Given the description of an element on the screen output the (x, y) to click on. 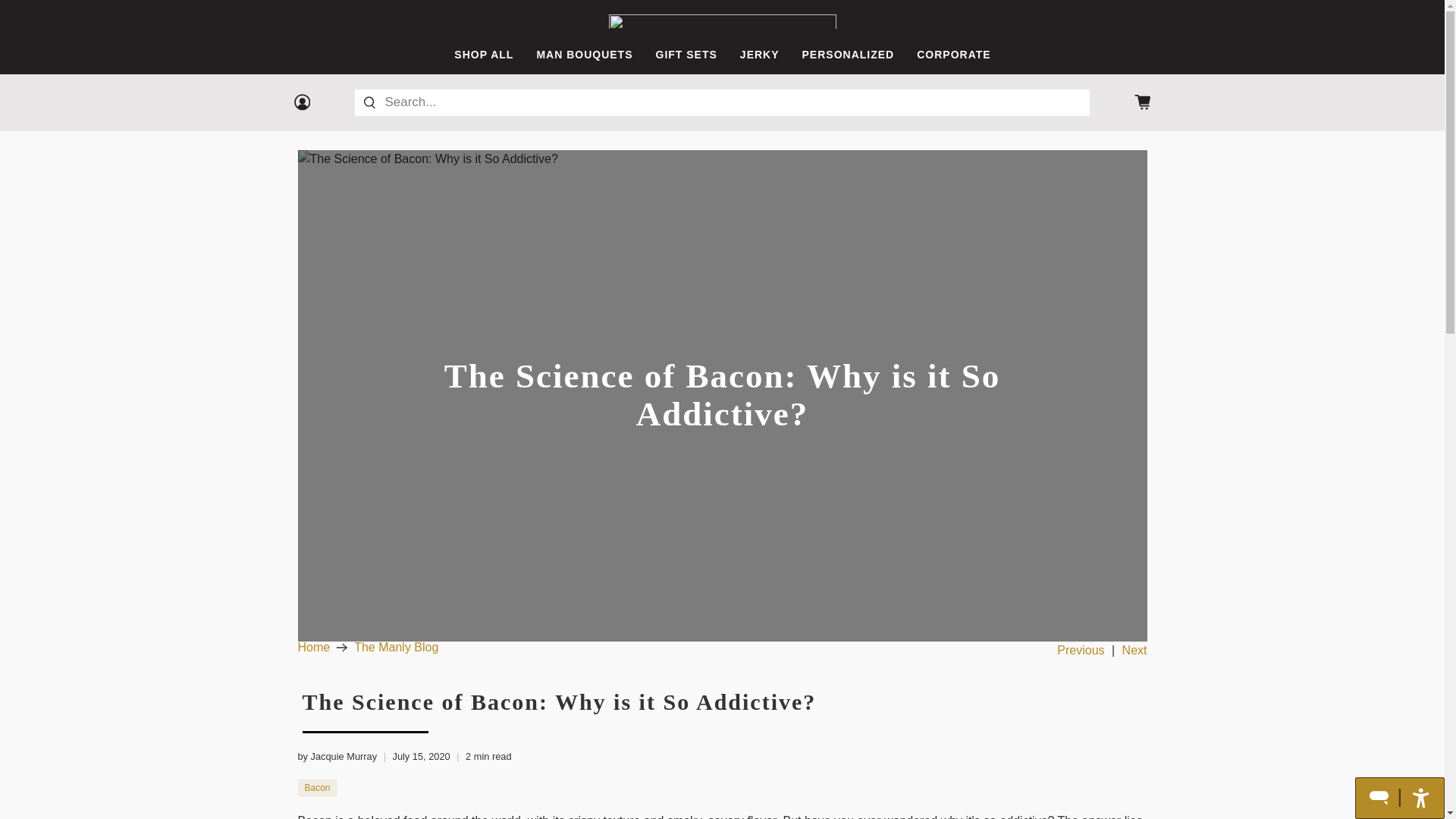
CORPORATE (953, 54)
The Manly Blog (395, 647)
PERSONALIZED (848, 54)
Previous (1080, 649)
Home (313, 647)
Bacon (317, 787)
Next (1134, 649)
SHOP ALL (483, 54)
GIFT SETS (685, 54)
JERKY (758, 54)
